Given the description of an element on the screen output the (x, y) to click on. 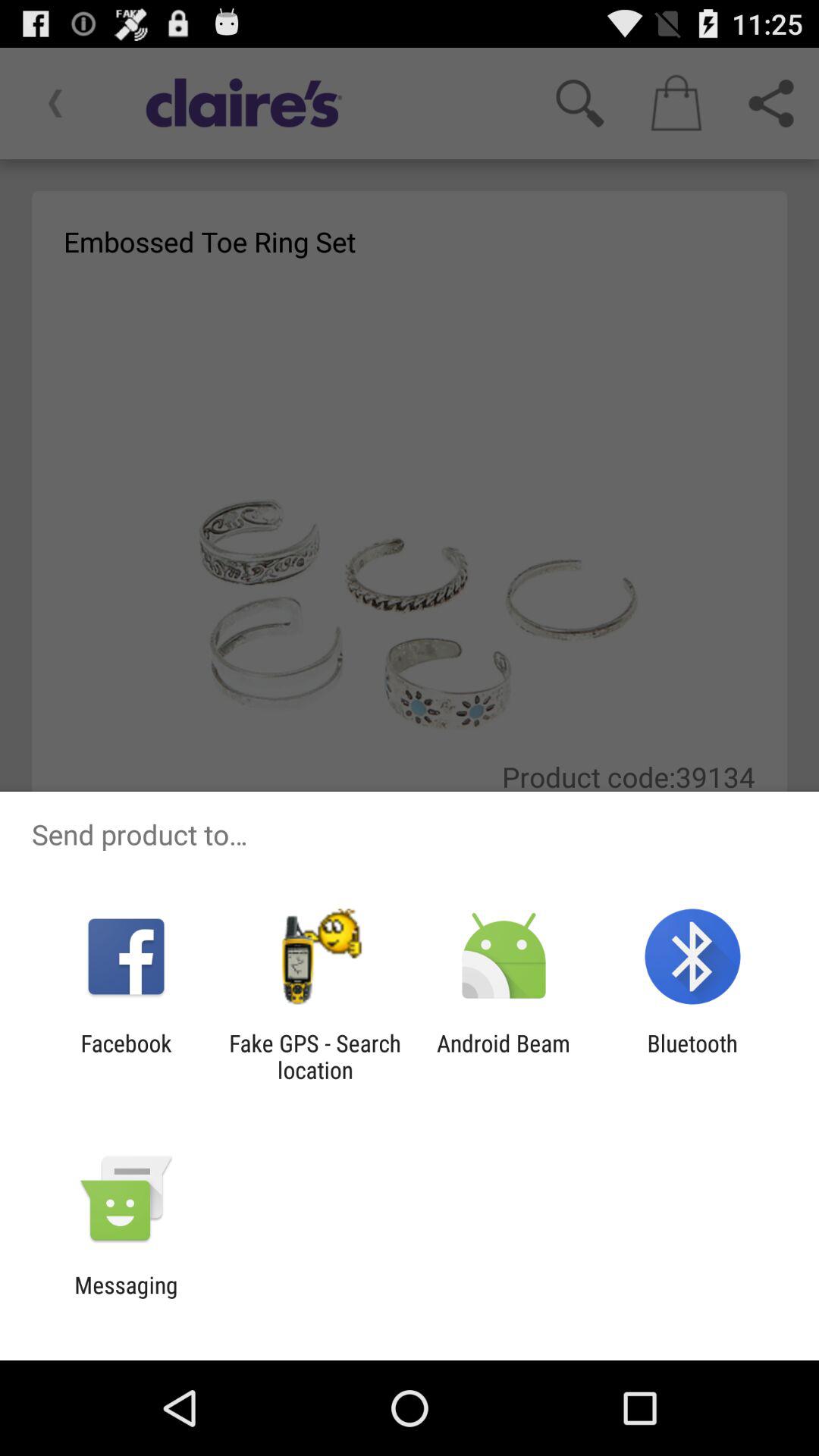
turn off the icon next to the bluetooth item (503, 1056)
